Given the description of an element on the screen output the (x, y) to click on. 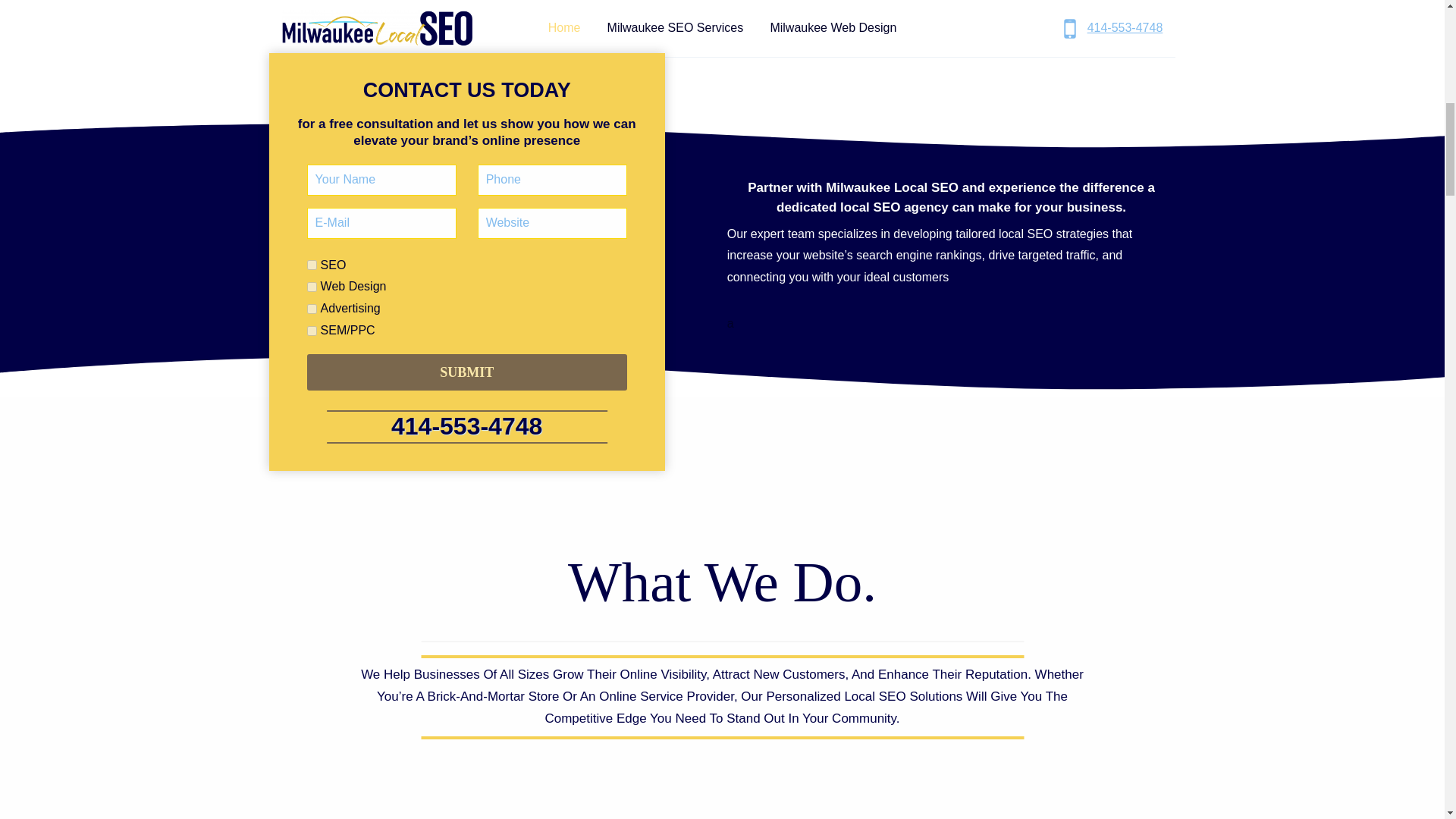
Web Design (312, 286)
Advertising  (312, 308)
SUBMIT (467, 371)
SEO (312, 265)
